Given the description of an element on the screen output the (x, y) to click on. 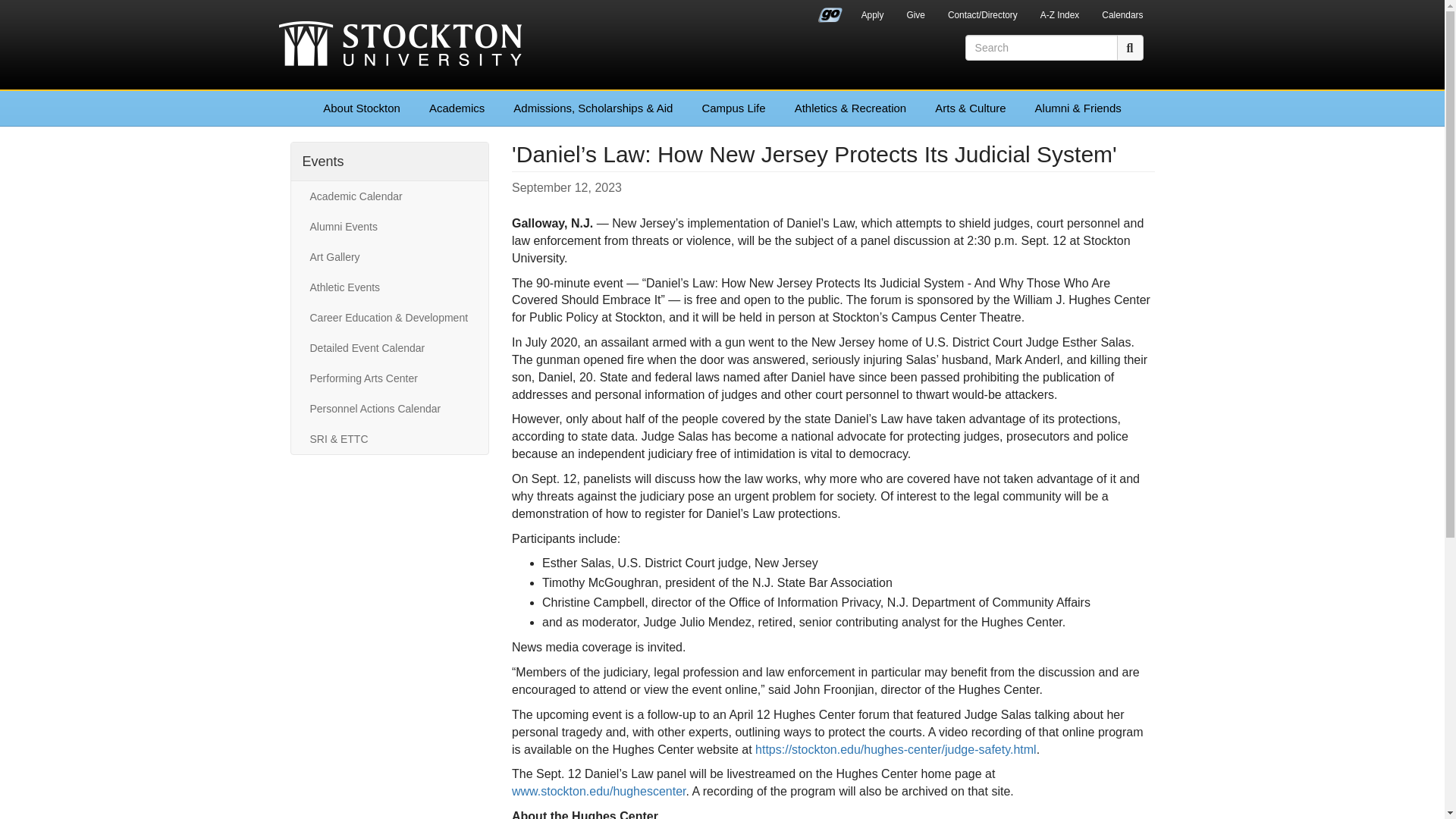
Athletic Events (389, 286)
Personnel Actions Calendar (389, 408)
Search (1129, 47)
A-Z Index (1059, 17)
Academics (456, 108)
Calendars (1122, 17)
Academic Calendar (389, 195)
Art Gallery (389, 256)
Alumni Events (389, 226)
Give (915, 17)
Campus Life (732, 108)
Detailed Event Calendar (389, 347)
Stockton University (400, 45)
Go Portal (830, 11)
Events (322, 160)
